Given the description of an element on the screen output the (x, y) to click on. 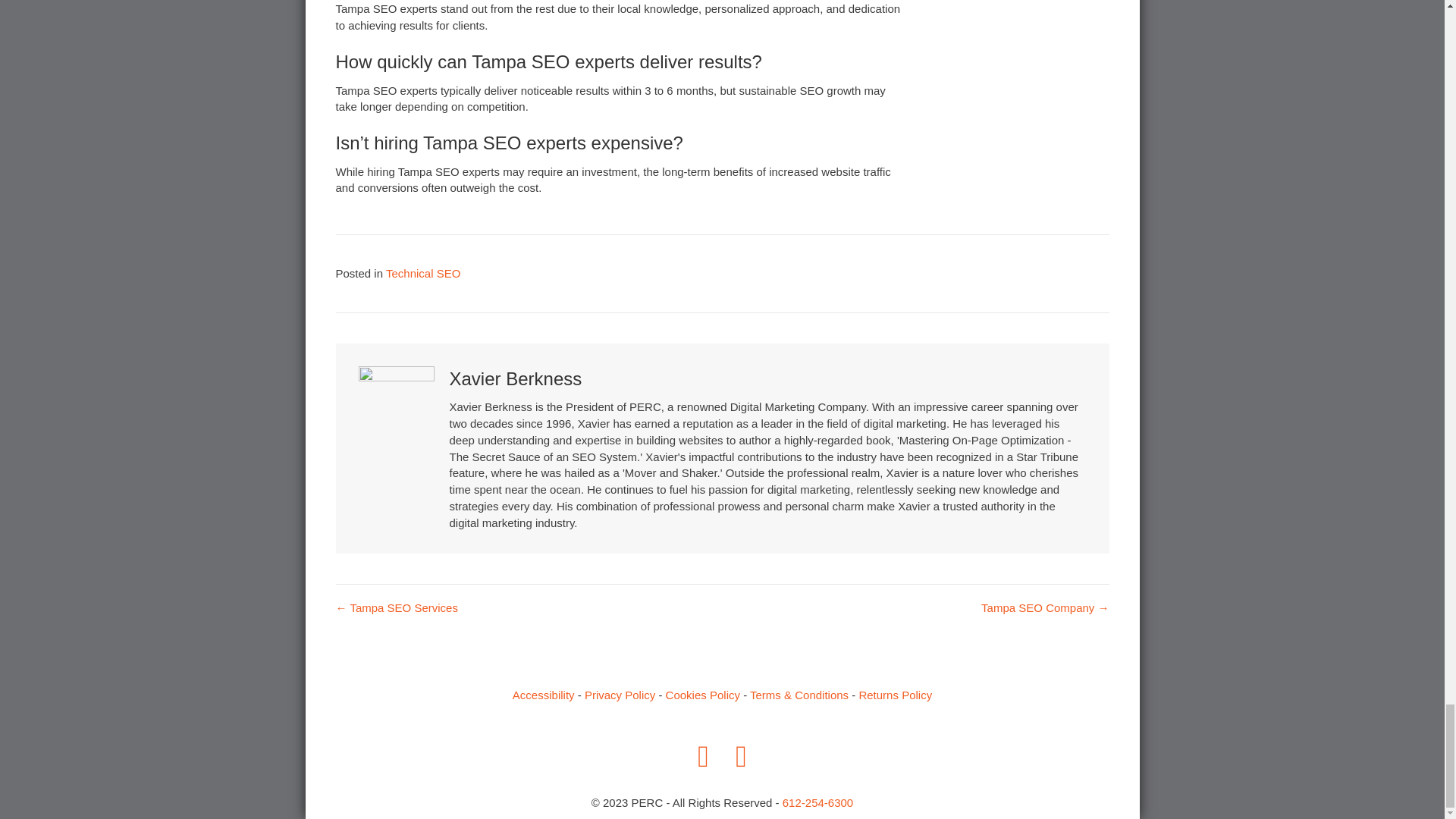
Accessibility (543, 694)
Technical SEO (422, 273)
Privacy Policy (620, 694)
Cookies Policy (702, 694)
